Given the description of an element on the screen output the (x, y) to click on. 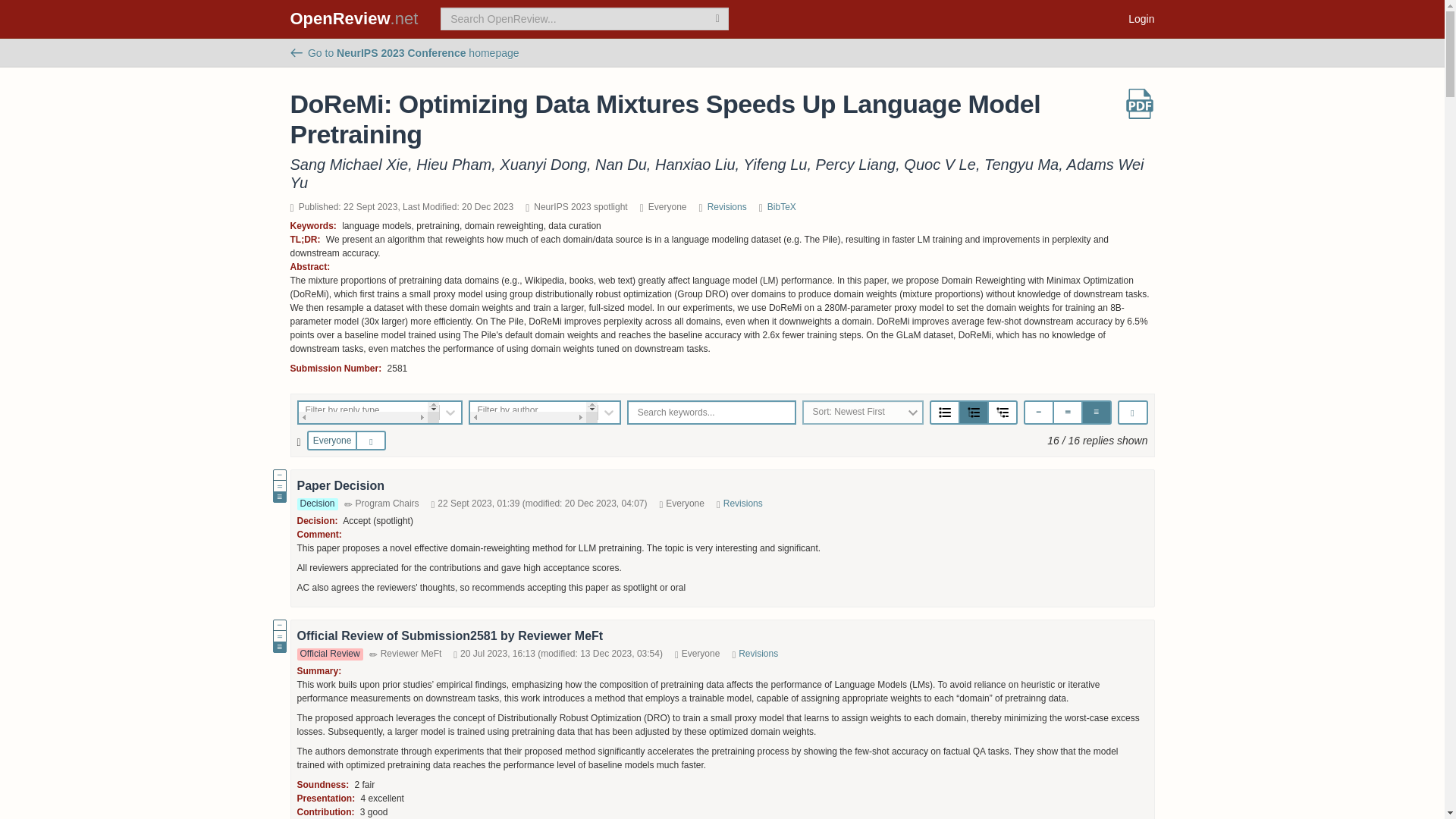
Revisions (726, 206)
Threaded (973, 412)
Tengyu Ma (1021, 164)
Revisions (742, 502)
Linear (944, 412)
Adams Wei Yu (715, 173)
Nested discussion layout (1002, 412)
Download PDF (1139, 103)
Go to NeurIPS 2023 Conference homepage (403, 52)
reset (373, 441)
Nested (1002, 412)
Xuanyi Dong (542, 164)
Percy Liang (855, 164)
Nan Du (620, 164)
Revisions (757, 653)
